Given the description of an element on the screen output the (x, y) to click on. 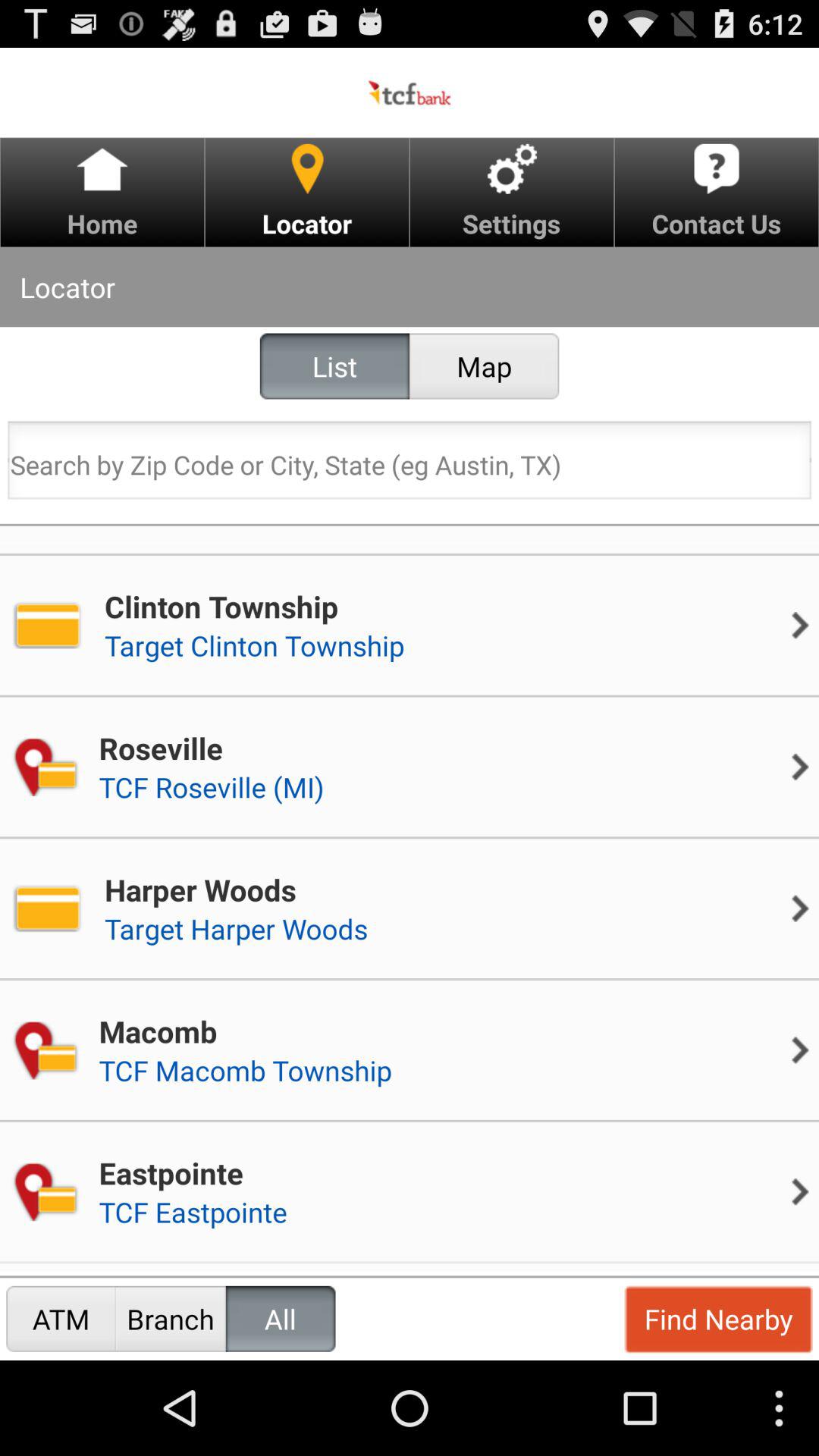
turn on branch (170, 1318)
